Given the description of an element on the screen output the (x, y) to click on. 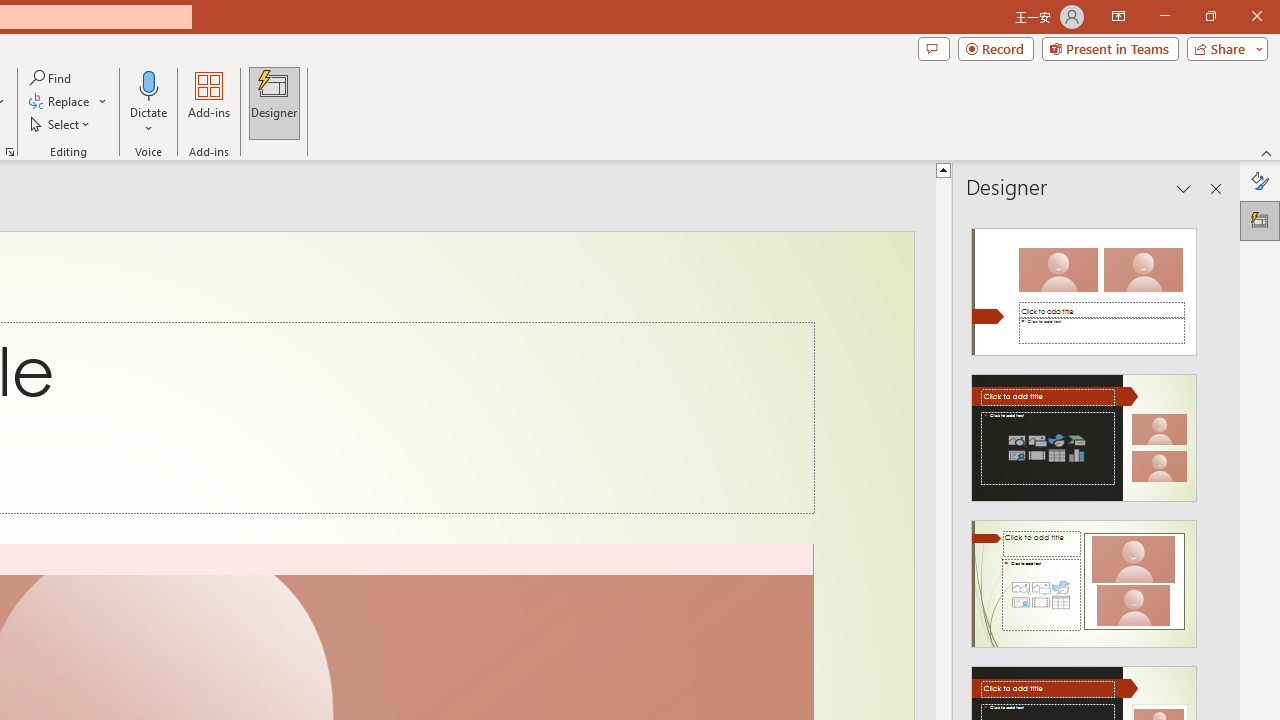
Designer (274, 102)
Record (995, 48)
Close pane (1215, 188)
Select (61, 124)
Close (1256, 16)
Minimize (1164, 16)
Comments (933, 48)
Replace... (60, 101)
Designer (1260, 220)
Dictate (149, 102)
Find... (51, 78)
Recommended Design: Design Idea (1083, 286)
